Given the description of an element on the screen output the (x, y) to click on. 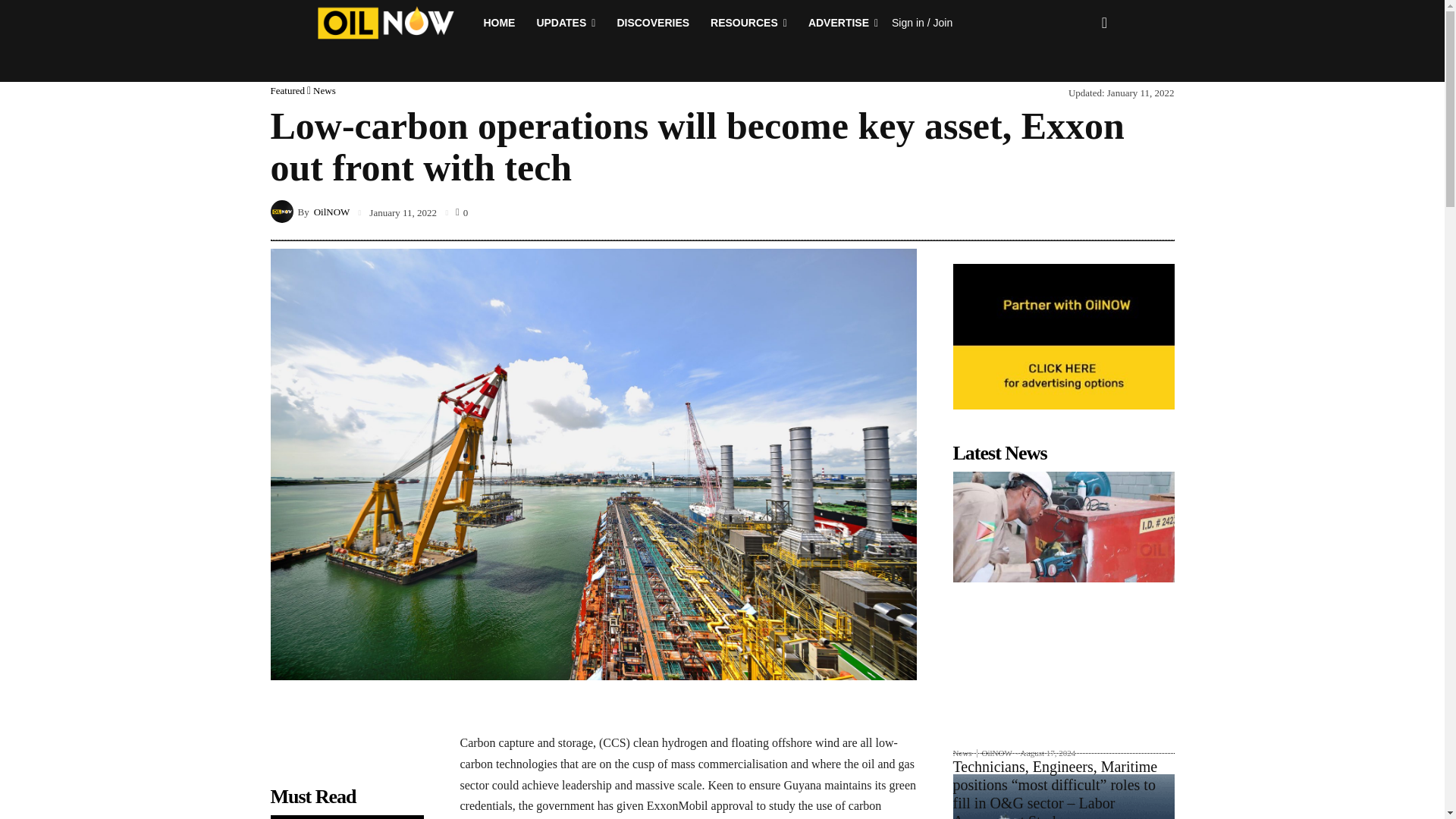
HOME (498, 22)
UPDATES (565, 22)
OilNOW (283, 210)
